Given the description of an element on the screen output the (x, y) to click on. 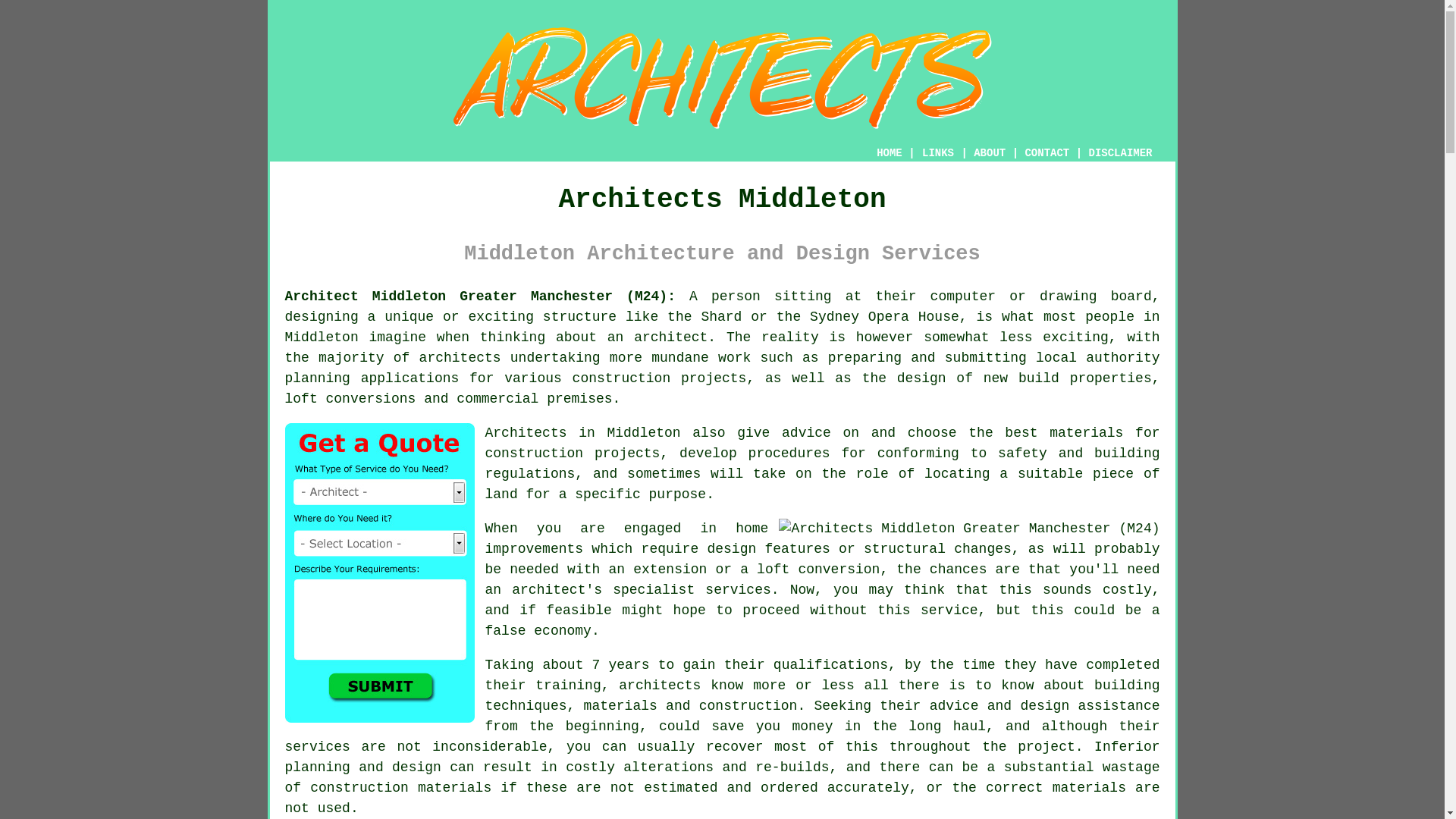
Architects Middleton (720, 78)
architects (659, 685)
architect (670, 337)
LINKS (938, 152)
HOME (889, 152)
